Given the description of an element on the screen output the (x, y) to click on. 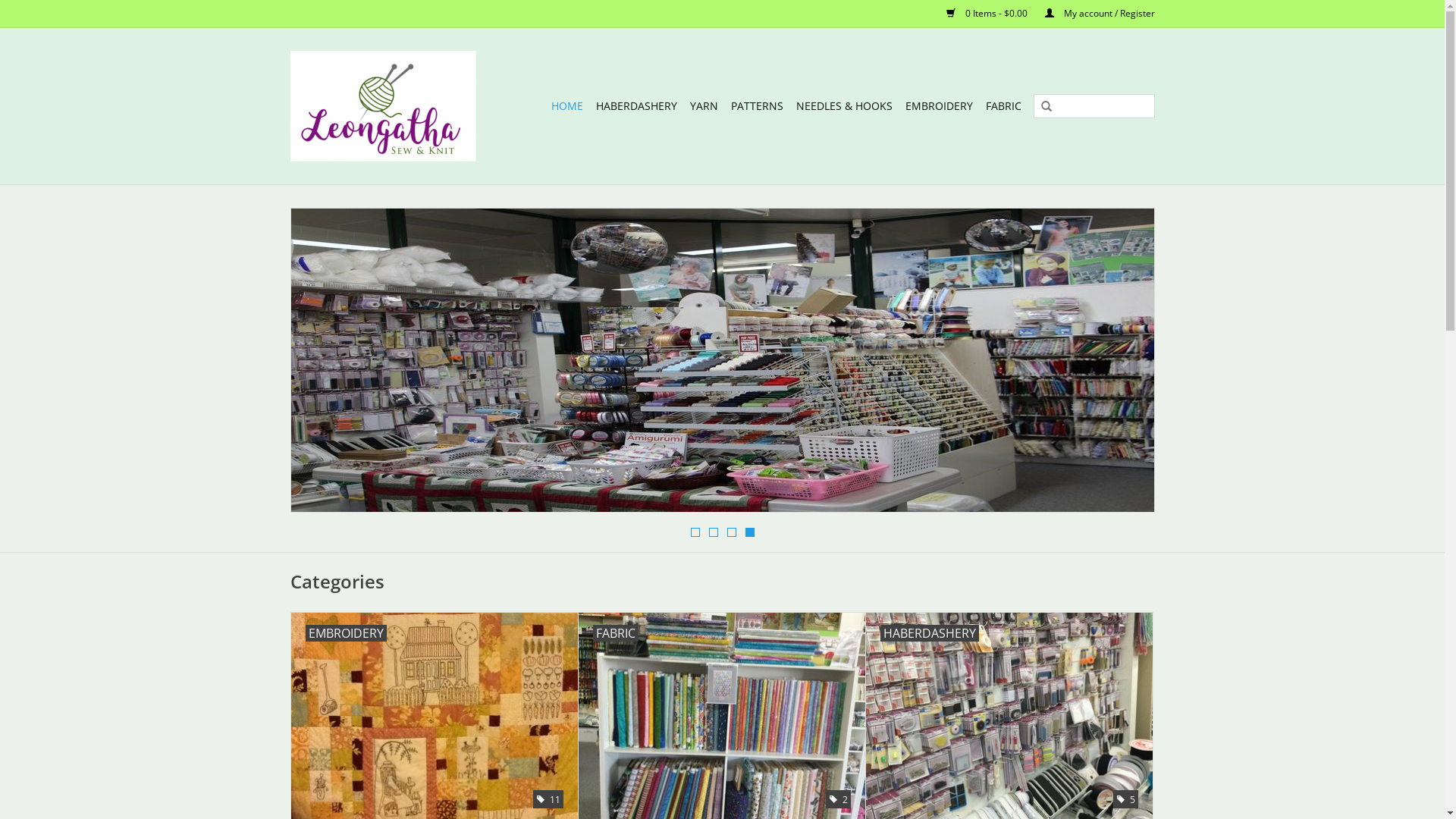
0 Items - $0.00 Element type: text (980, 12)
YARN Element type: text (703, 106)
Search Element type: hover (1045, 106)
4 Element type: text (748, 531)
2 Element type: text (712, 531)
FABRIC Element type: text (1003, 106)
Leongatha Sew and Knit Element type: hover (390, 105)
My account / Register Element type: text (1091, 12)
Next Element type: hover (1124, 361)
PATTERNS Element type: text (756, 106)
NEEDLES & HOOKS Element type: text (844, 106)
HABERDASHERY Element type: text (636, 106)
HOME Element type: text (566, 106)
1 Element type: text (694, 531)
EMBROIDERY Element type: text (938, 106)
3 Element type: text (730, 531)
Previous Element type: hover (319, 361)
